Given the description of an element on the screen output the (x, y) to click on. 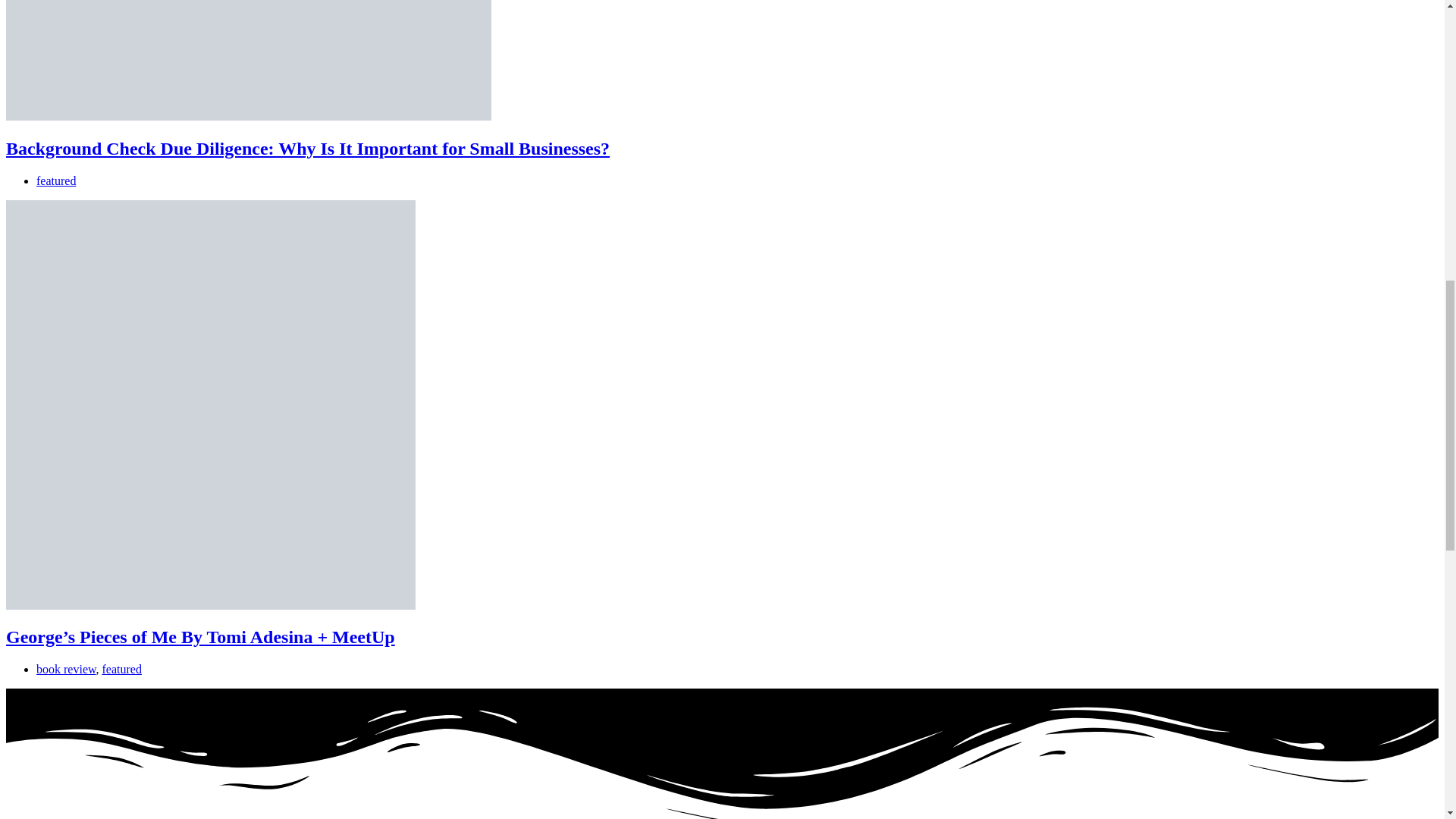
featured (121, 668)
book review (66, 668)
featured (55, 180)
